Given the description of an element on the screen output the (x, y) to click on. 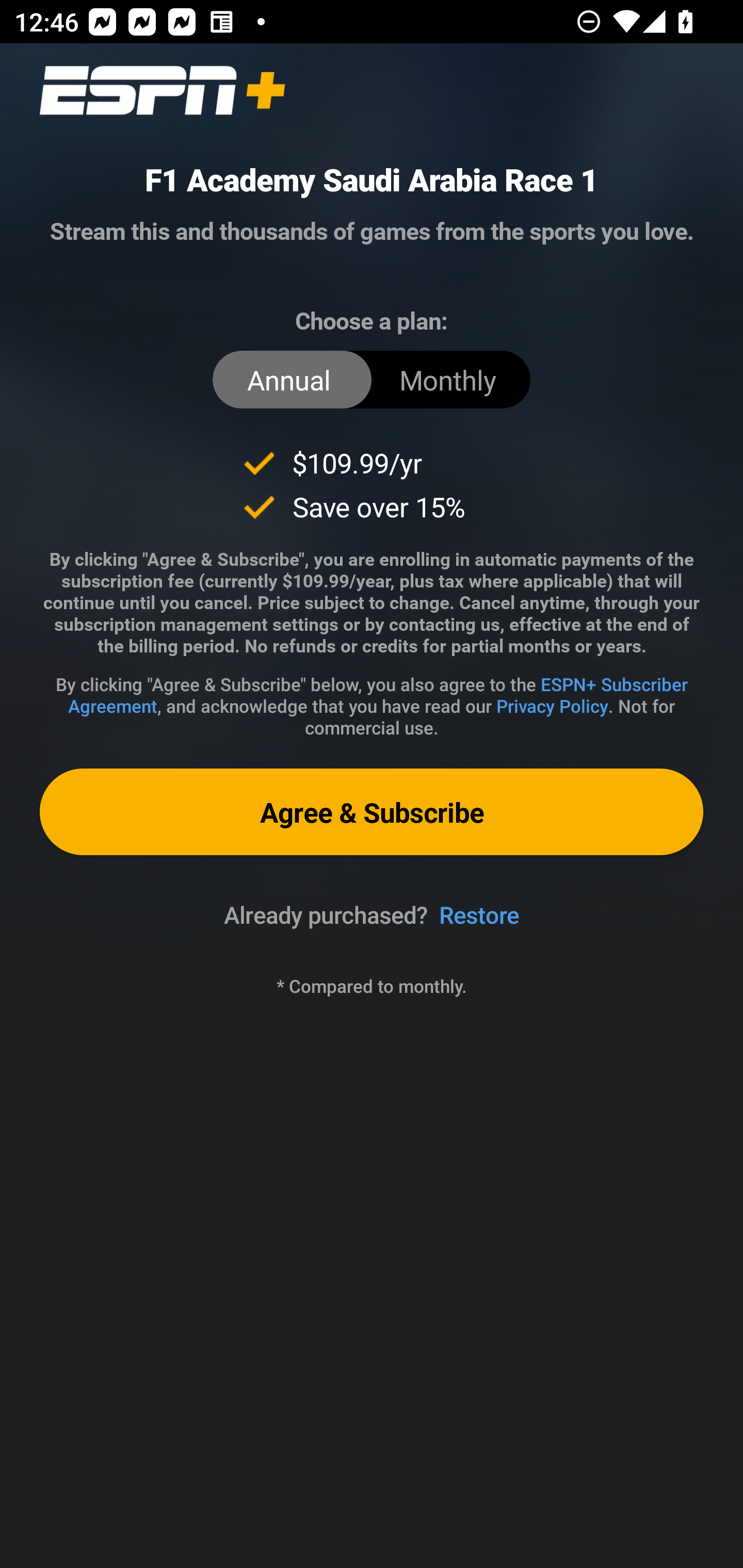
Agree & Subscribe (371, 811)
